Given the description of an element on the screen output the (x, y) to click on. 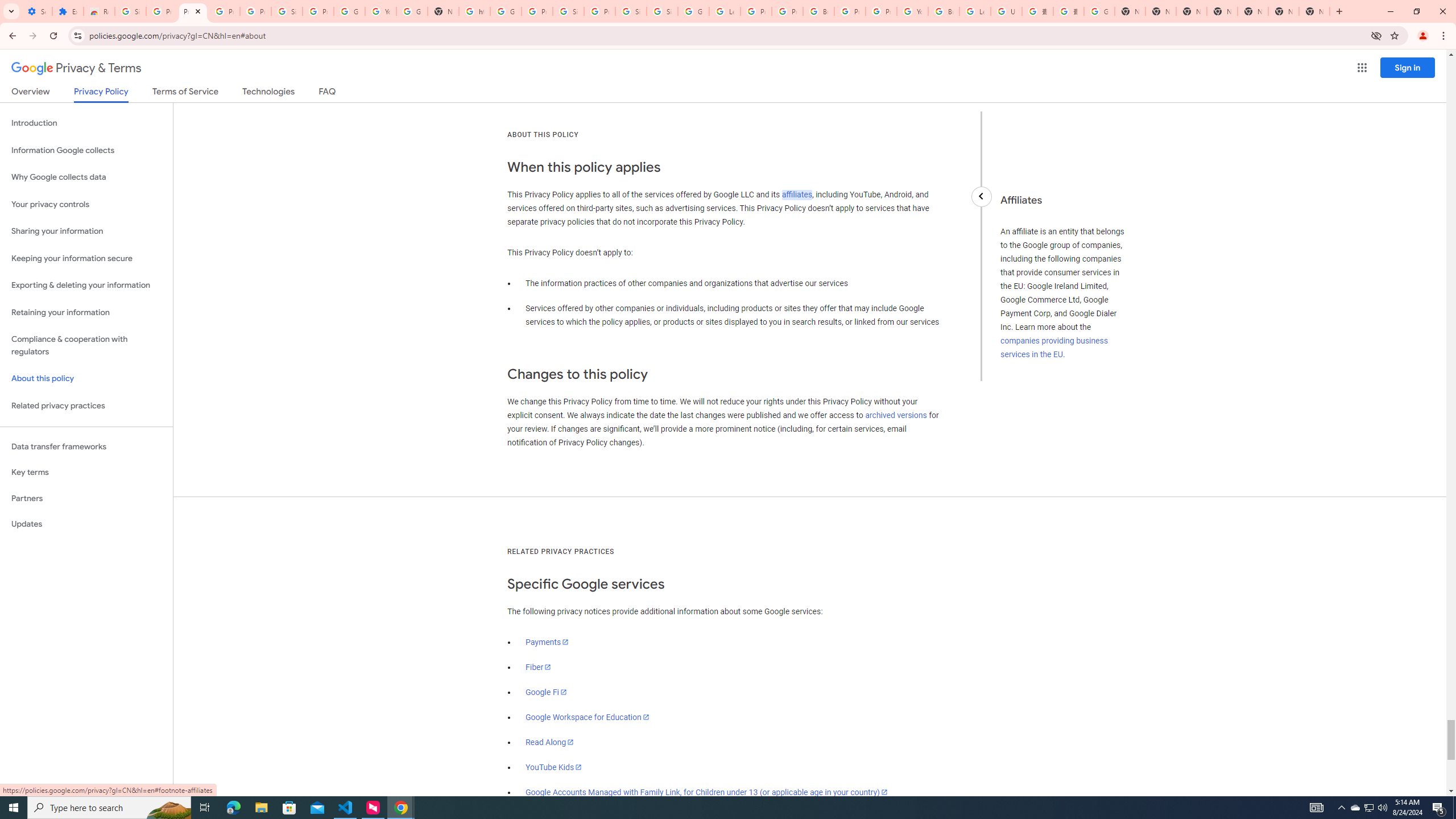
affiliates (796, 194)
About this policy (86, 379)
Information Google collects (86, 150)
Sign in - Google Accounts (286, 11)
New Tab (1222, 11)
Reviews: Helix Fruit Jump Arcade Game (98, 11)
Sign in - Google Accounts (631, 11)
Your privacy controls (86, 204)
Data transfer frameworks (86, 446)
